Given the description of an element on the screen output the (x, y) to click on. 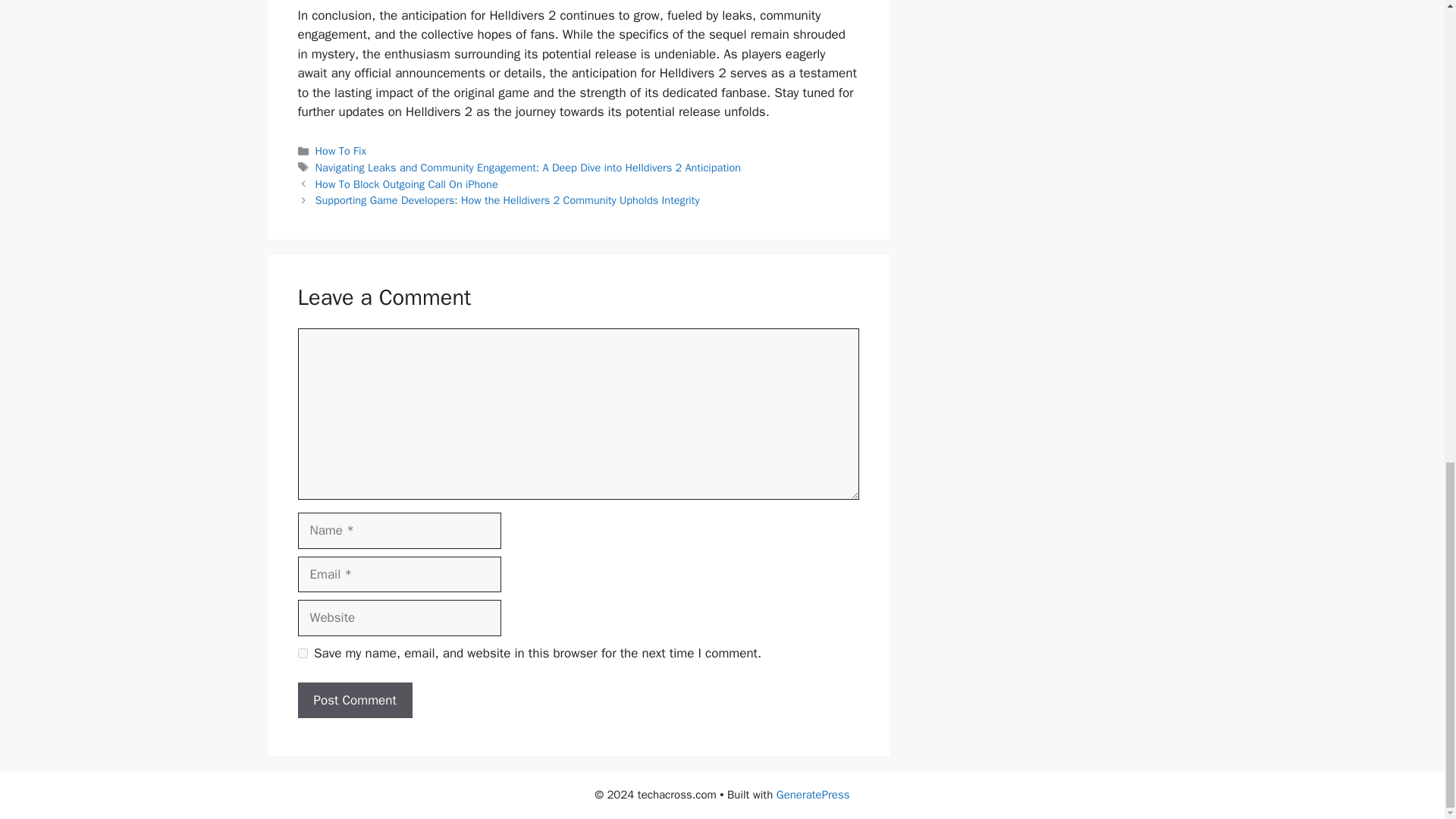
yes (302, 653)
Post Comment (354, 700)
How To Fix (340, 151)
How To Block Outgoing Call On iPhone (406, 183)
Post Comment (354, 700)
GeneratePress (813, 794)
